Given the description of an element on the screen output the (x, y) to click on. 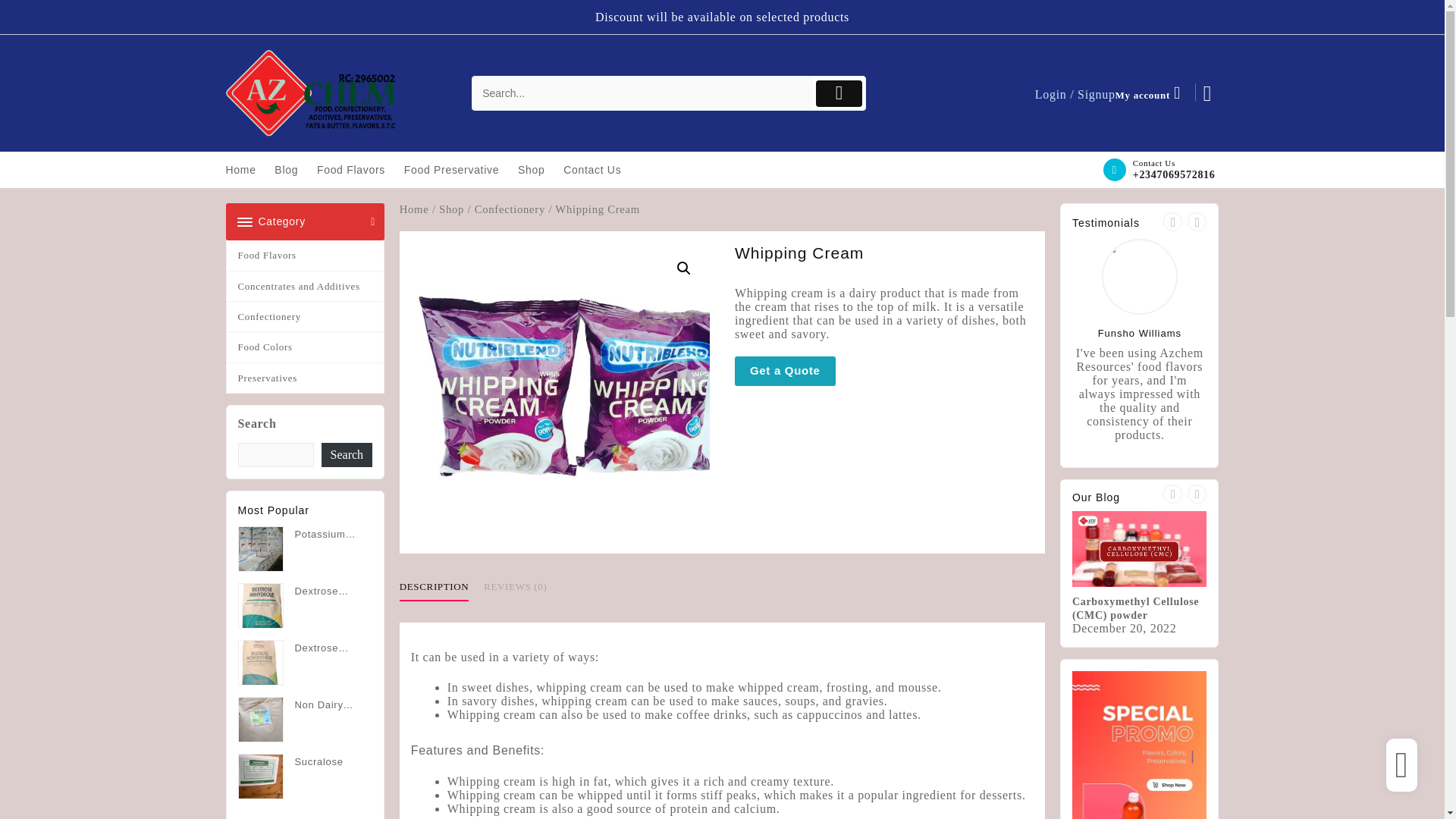
IMG-20211014-WA0053 Background Removed Large (560, 391)
Food Flavors (358, 169)
Food Colors (304, 347)
Non Dairy Creamer (305, 704)
Home (247, 169)
Sucralose (305, 761)
Concentrates and Additives (304, 286)
Preservatives (304, 378)
Blog (294, 169)
Dextrose Anhydrous (305, 590)
Potassium Sorbate (305, 534)
Submit (838, 93)
Contact Us (599, 169)
Search (641, 93)
Search (346, 454)
